Given the description of an element on the screen output the (x, y) to click on. 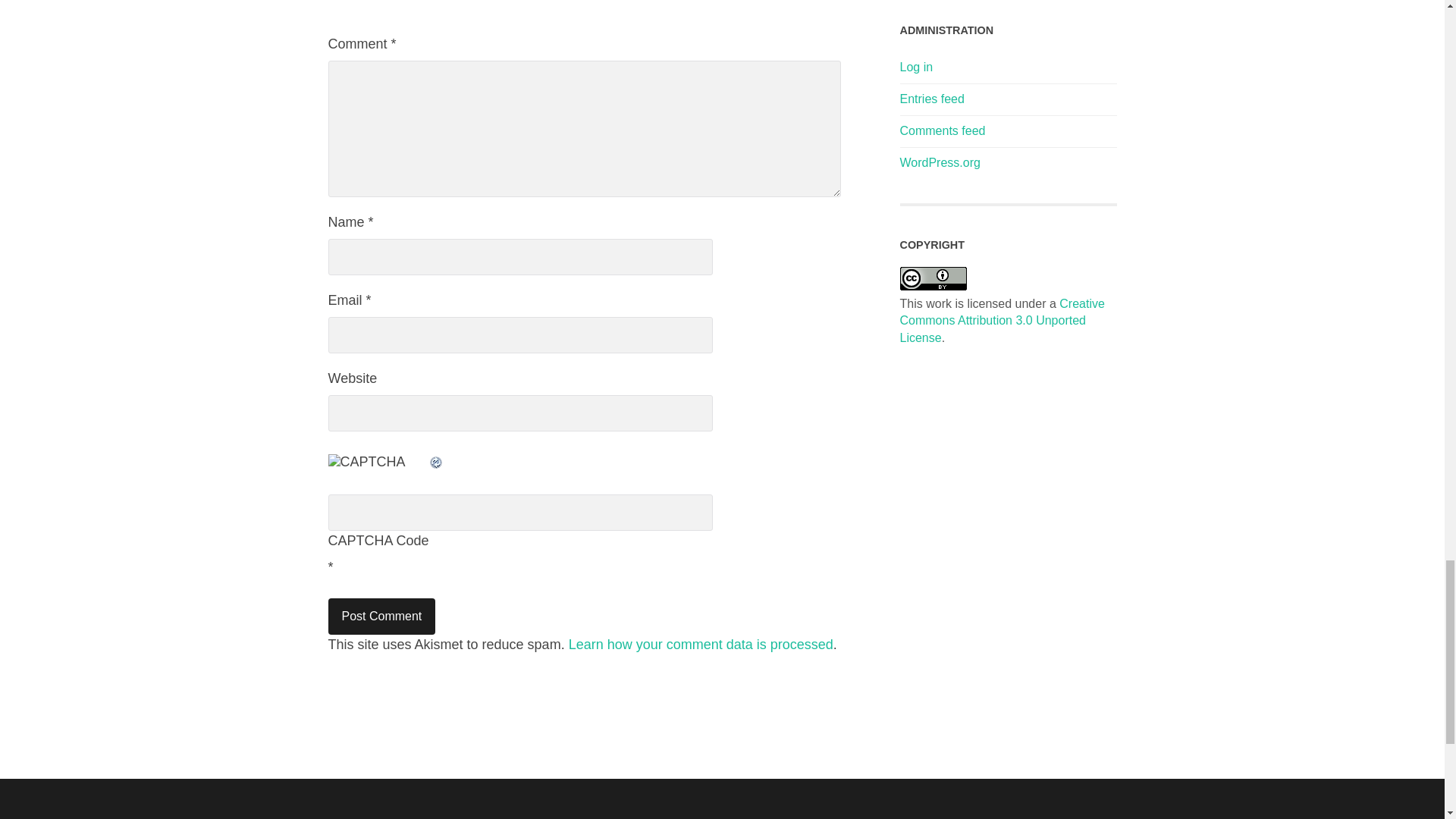
Post Comment (381, 616)
CAPTCHA (377, 470)
Refresh (436, 461)
Learn how your comment data is processed (700, 644)
Post Comment (381, 616)
